Given the description of an element on the screen output the (x, y) to click on. 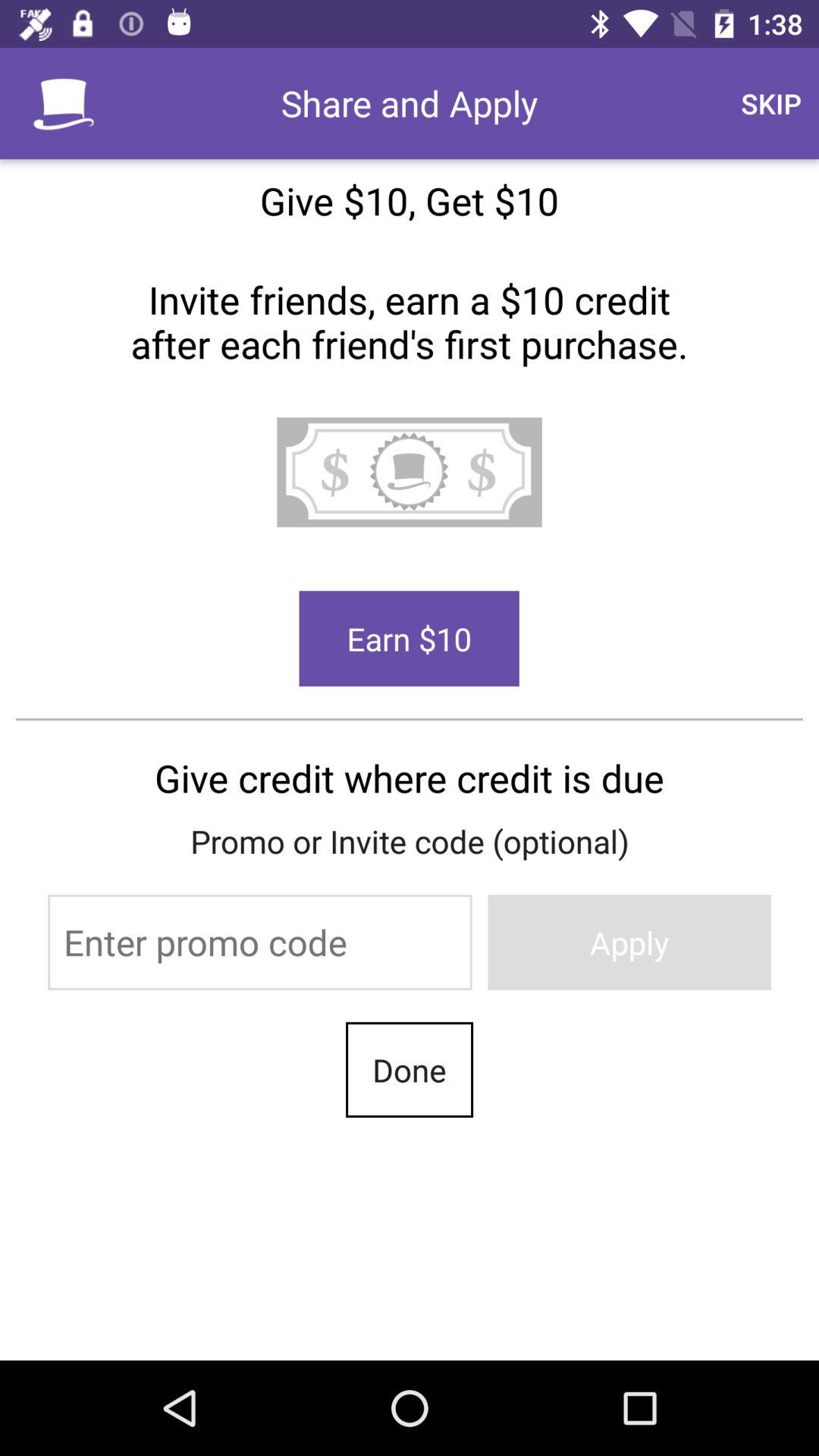
choose icon above the done (259, 942)
